Given the description of an element on the screen output the (x, y) to click on. 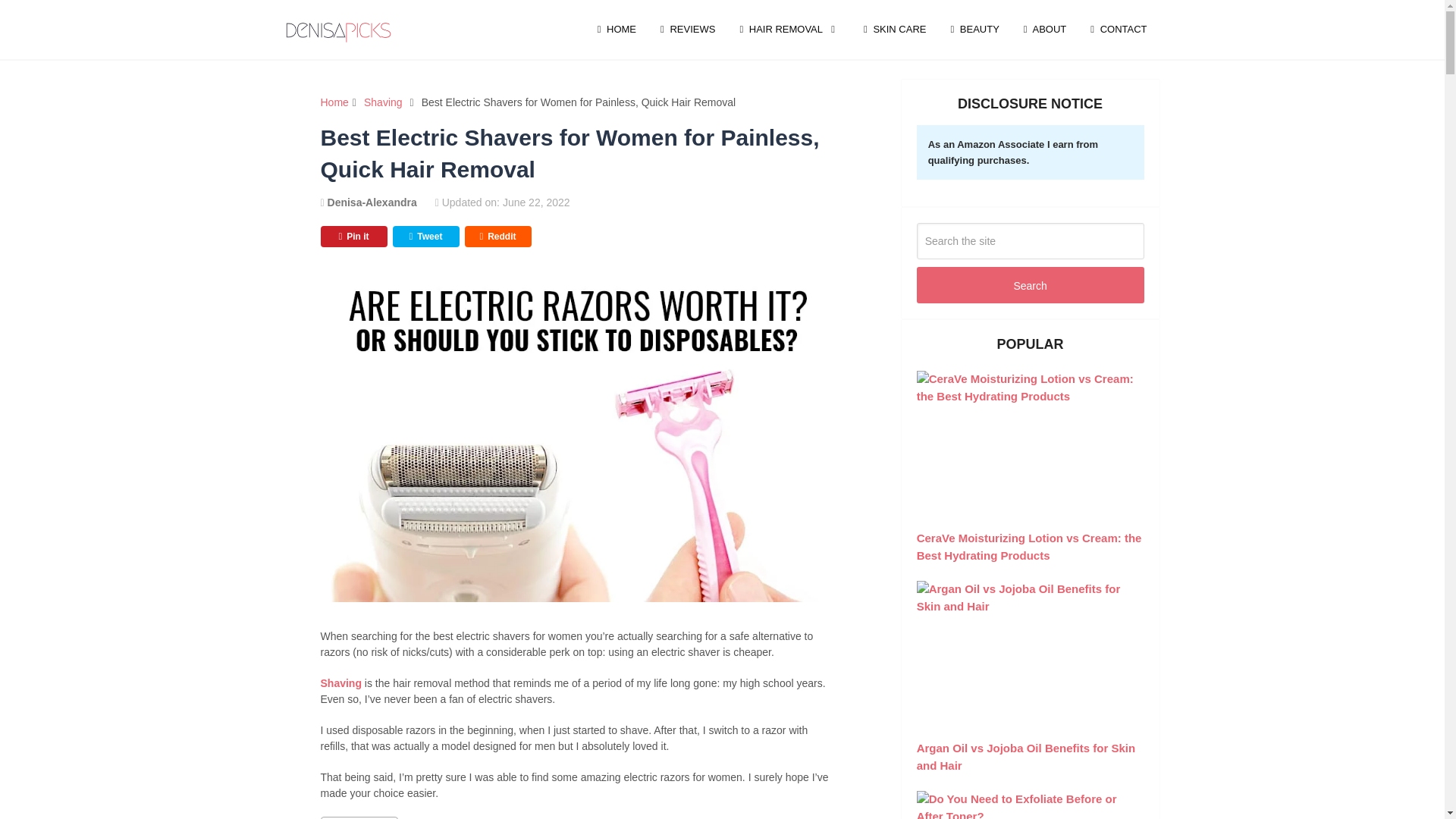
Home (333, 102)
HAIR REMOVAL (788, 29)
REVIEWS (686, 29)
Shaving (383, 102)
HOME (616, 29)
Pin it (353, 236)
Denisa-Alexandra (371, 202)
ABOUT (1044, 29)
Shaving (340, 683)
Posts by Denisa-Alexandra (371, 202)
